Given the description of an element on the screen output the (x, y) to click on. 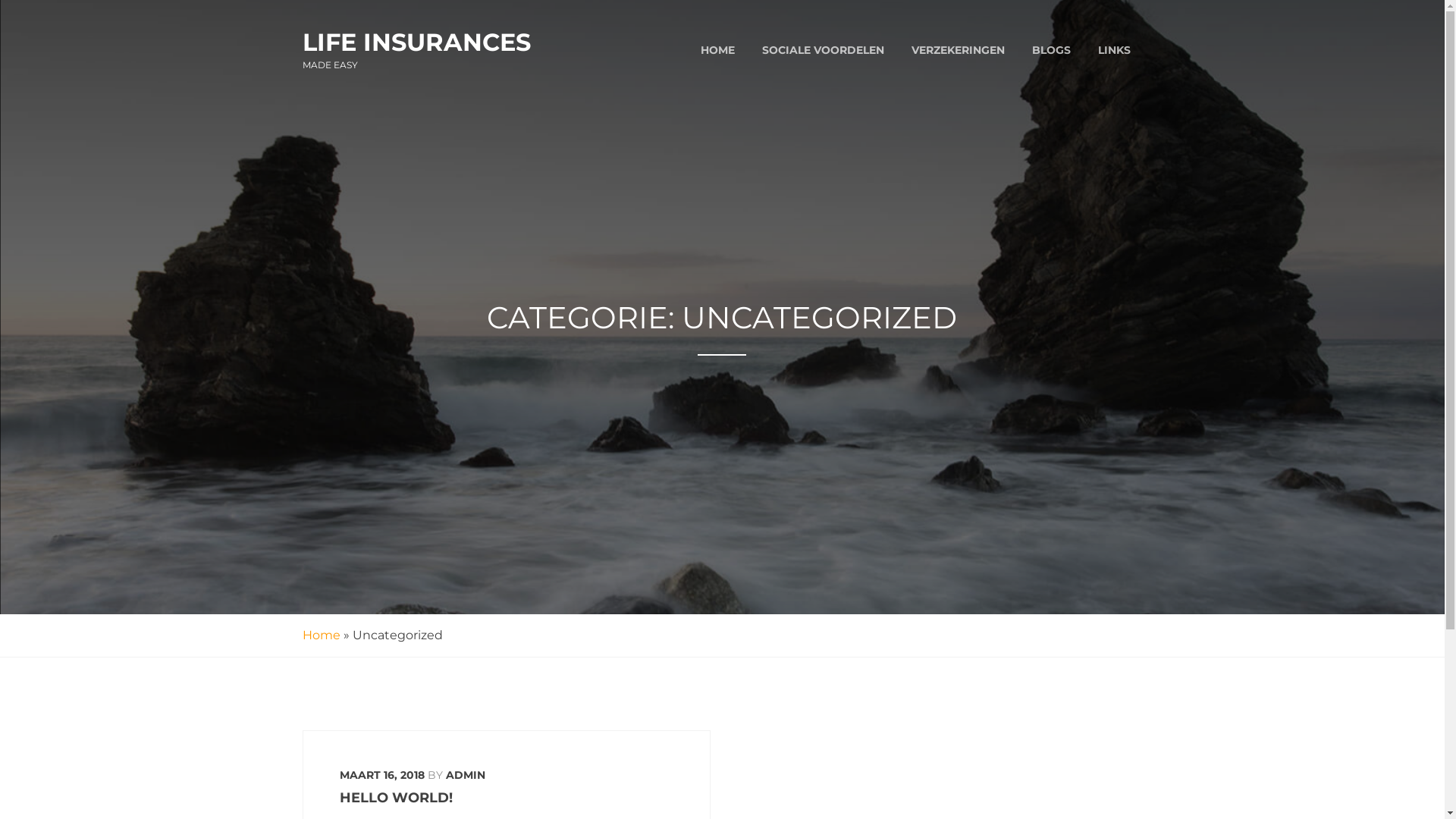
BLOGS Element type: text (1050, 50)
ADMIN Element type: text (465, 774)
MAART 16, 2018 Element type: text (381, 774)
LIFE INSURANCES Element type: text (415, 41)
LINKS Element type: text (1113, 50)
HOME Element type: text (717, 50)
HELLO WORLD! Element type: text (395, 797)
SOCIALE VOORDELEN Element type: text (822, 50)
VERZEKERINGEN Element type: text (957, 50)
Home Element type: text (320, 634)
